Given the description of an element on the screen output the (x, y) to click on. 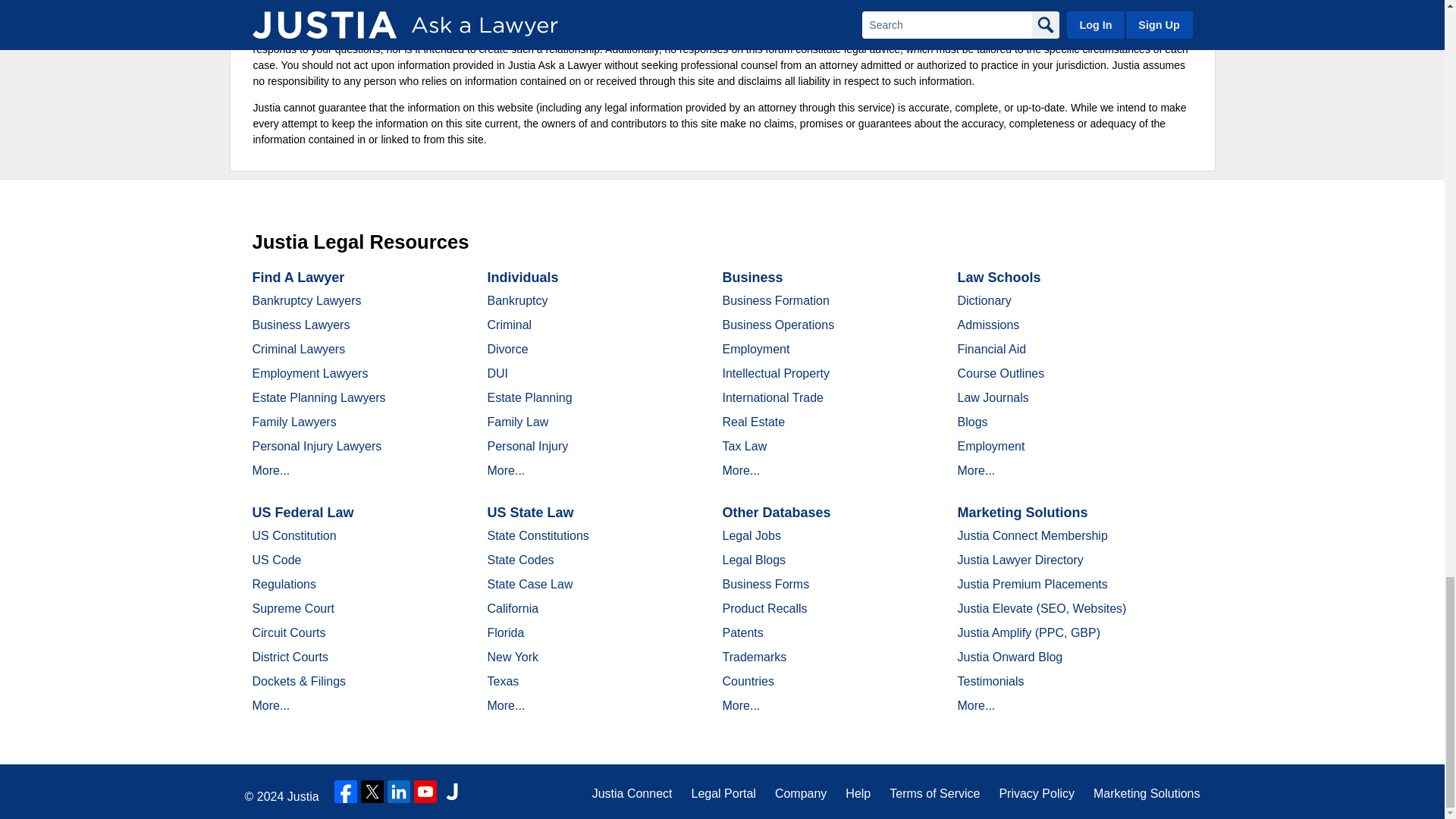
Facebook (345, 791)
